Given the description of an element on the screen output the (x, y) to click on. 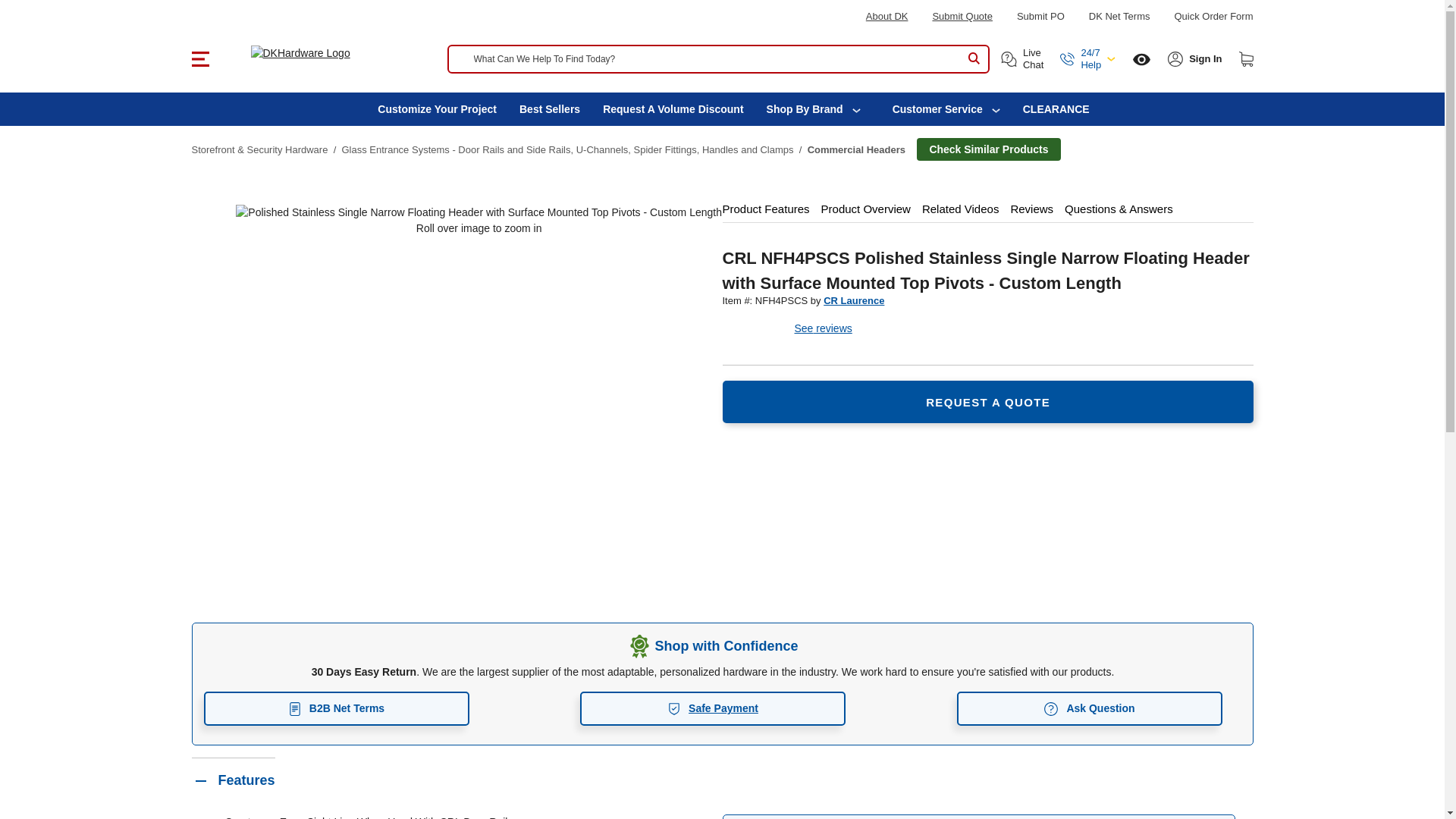
REQUEST A QUOTE (987, 401)
Customize Your Project (437, 109)
CLEARANCE (1055, 109)
DK Hardware (322, 53)
B2B Net Terms (335, 708)
Commercial Headers (856, 149)
Submit Quote (961, 16)
Ask Question (1089, 708)
CR Laurence (853, 300)
